Given the description of an element on the screen output the (x, y) to click on. 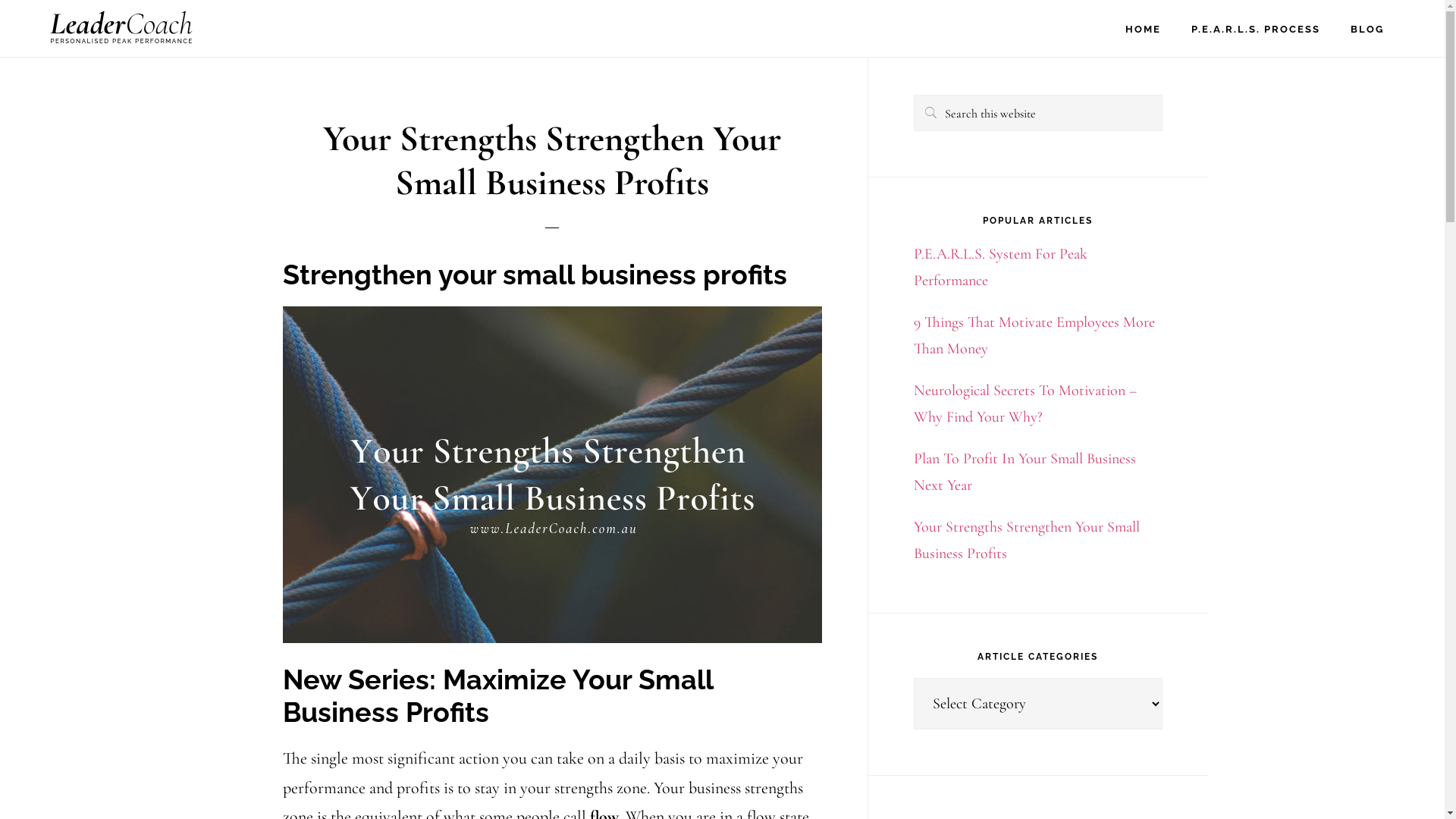
LEADERCOACH | ALIGNING VALUES & VISIONS FOR RESULTS Element type: text (121, 26)
BLOG Element type: text (1367, 28)
Skip to main content Element type: text (0, 0)
Search Element type: text (1161, 94)
Plan To Profit In Your Small Business Next Year Element type: text (1024, 471)
Your Strengths Strengthen Your Small Business Profits Element type: text (1026, 539)
9 Things That Motivate Employees More Than Money Element type: text (1033, 335)
P.E.A.R.L.S. PROCESS Element type: text (1255, 28)
HOME Element type: text (1143, 28)
P.E.A.R.L.S. System For Peak Performance Element type: text (999, 266)
